Given the description of an element on the screen output the (x, y) to click on. 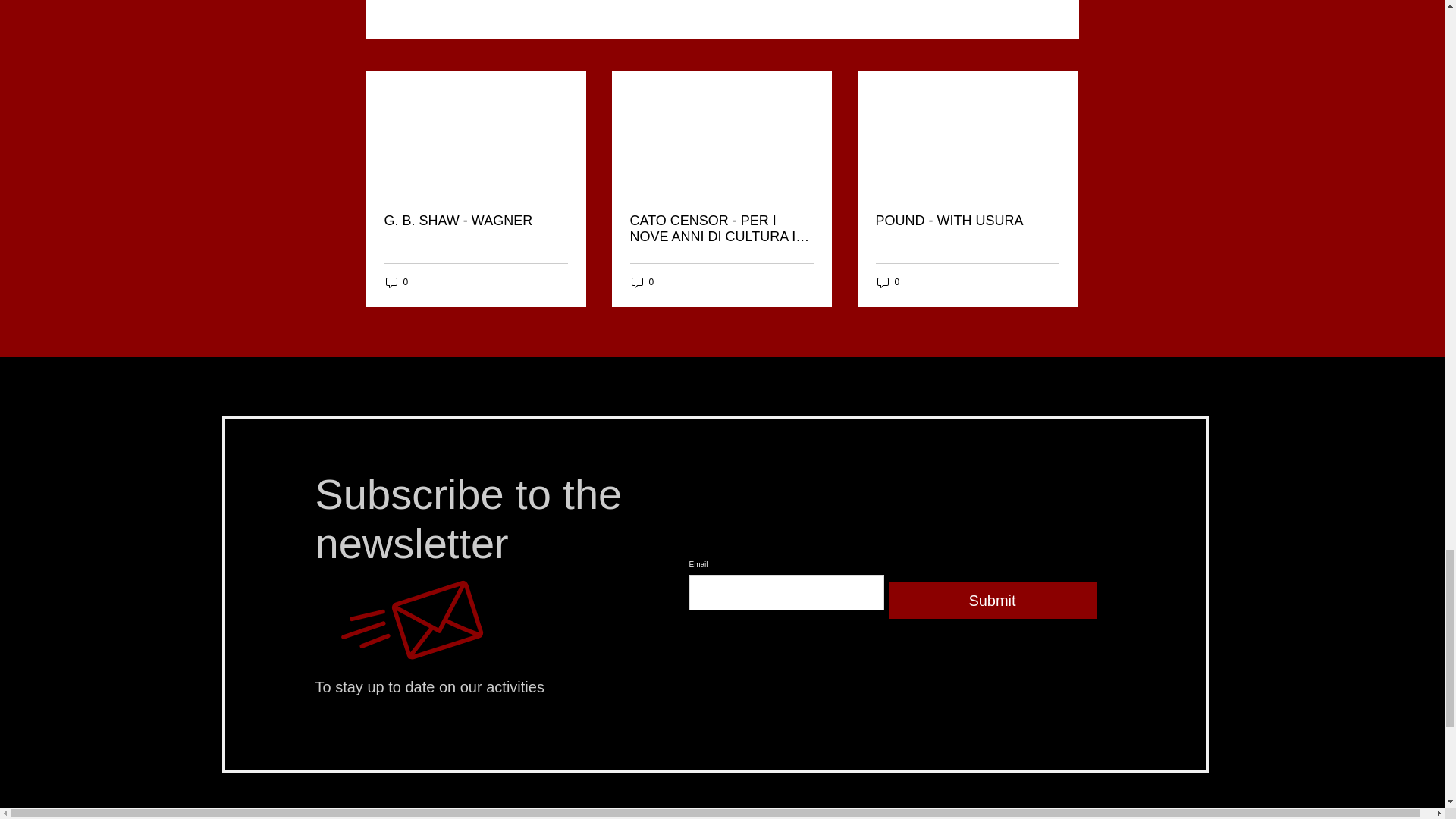
Submit (992, 600)
0 (888, 282)
0 (641, 282)
CATO CENSOR - PER I NOVE ANNI DI CULTURA IN ATTO (720, 228)
G. B. SHAW - WAGNER (475, 220)
POUND - WITH USURA (966, 220)
0 (396, 282)
